Given the description of an element on the screen output the (x, y) to click on. 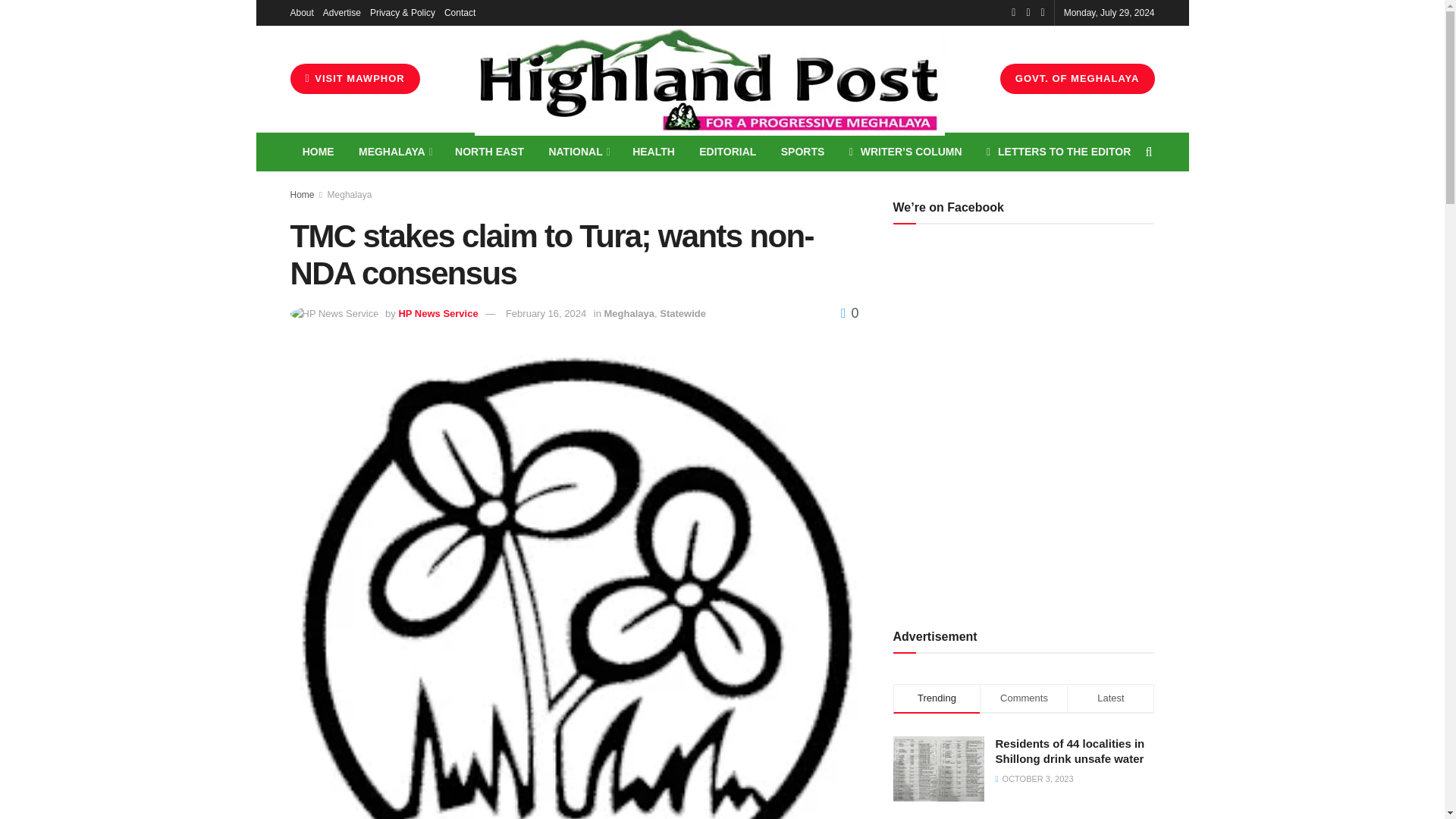
VISIT MAWPHOR (354, 78)
Contact (460, 12)
Advertise (342, 12)
MEGHALAYA (394, 151)
GOVT. OF MEGHALAYA (1077, 78)
HOME (317, 151)
About (301, 12)
